Given the description of an element on the screen output the (x, y) to click on. 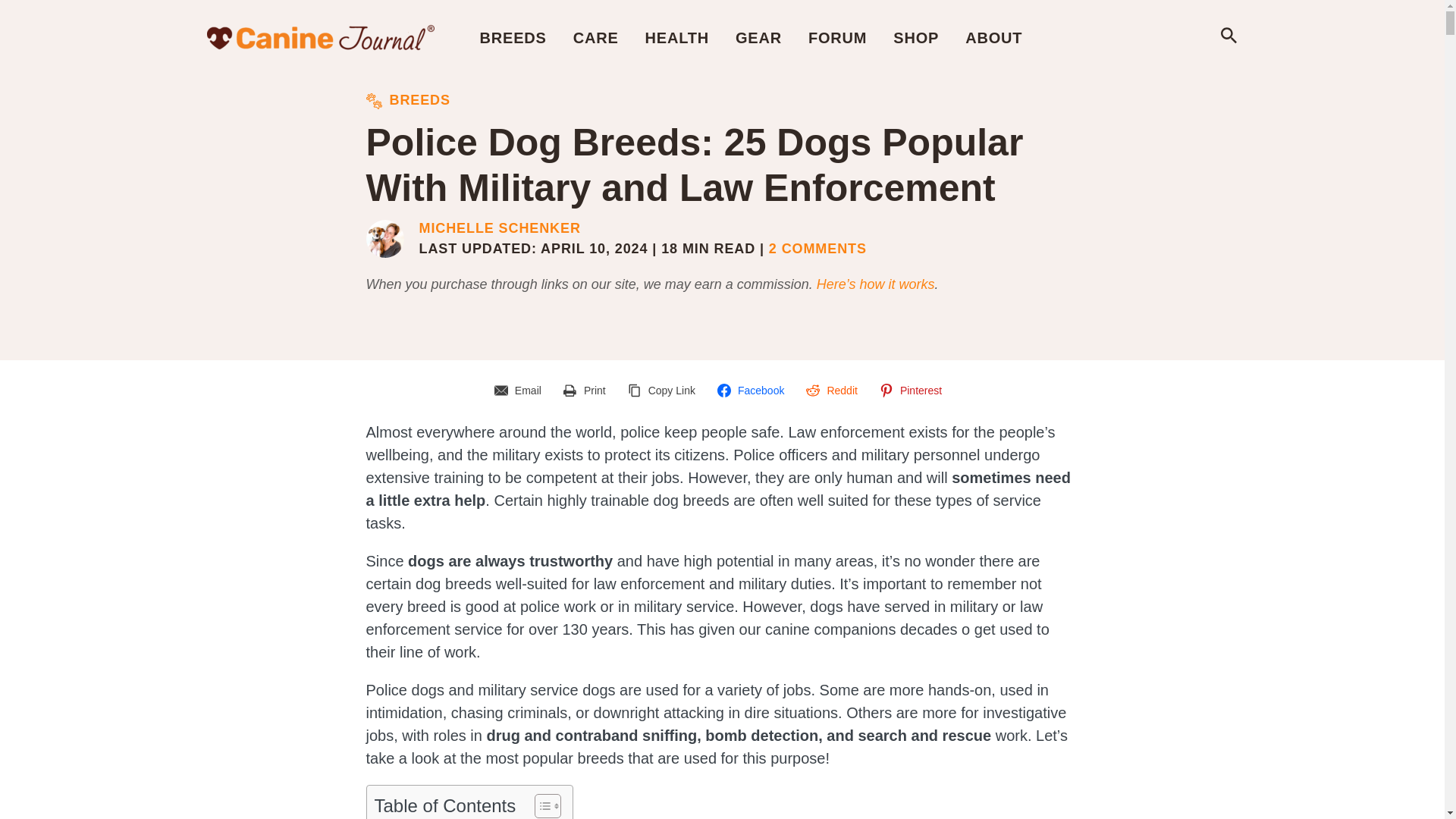
Share on Print (586, 390)
Share on Reddit (833, 390)
HEALTH (677, 37)
BREEDS (512, 37)
Posts by Michelle Schenker (499, 228)
Share on Copy Link (663, 390)
ABOUT (993, 37)
Share on Email (520, 390)
FORUM (837, 37)
Share on Pinterest (912, 390)
